Given the description of an element on the screen output the (x, y) to click on. 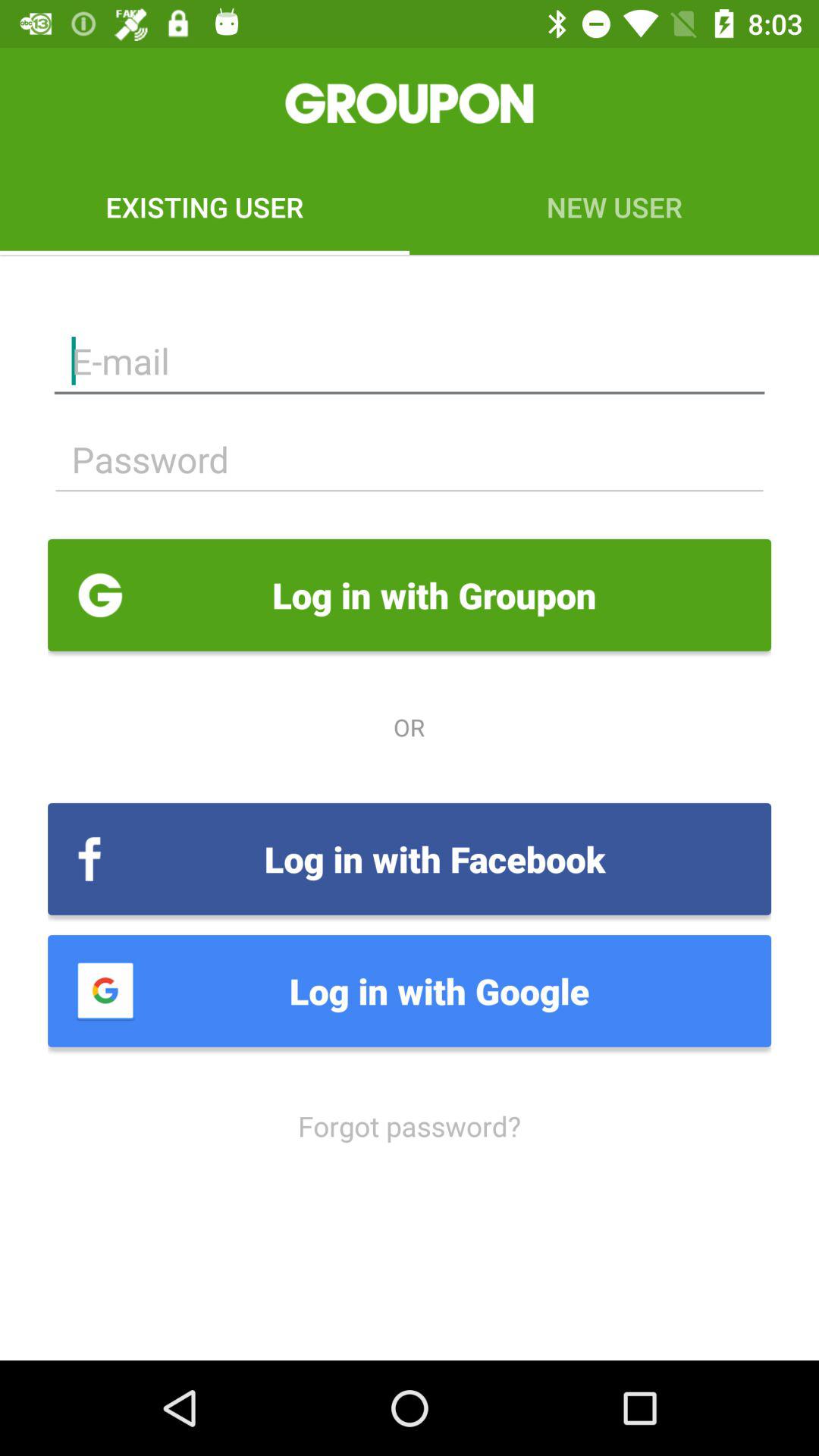
turn off the new user at the top right corner (614, 206)
